Given the description of an element on the screen output the (x, y) to click on. 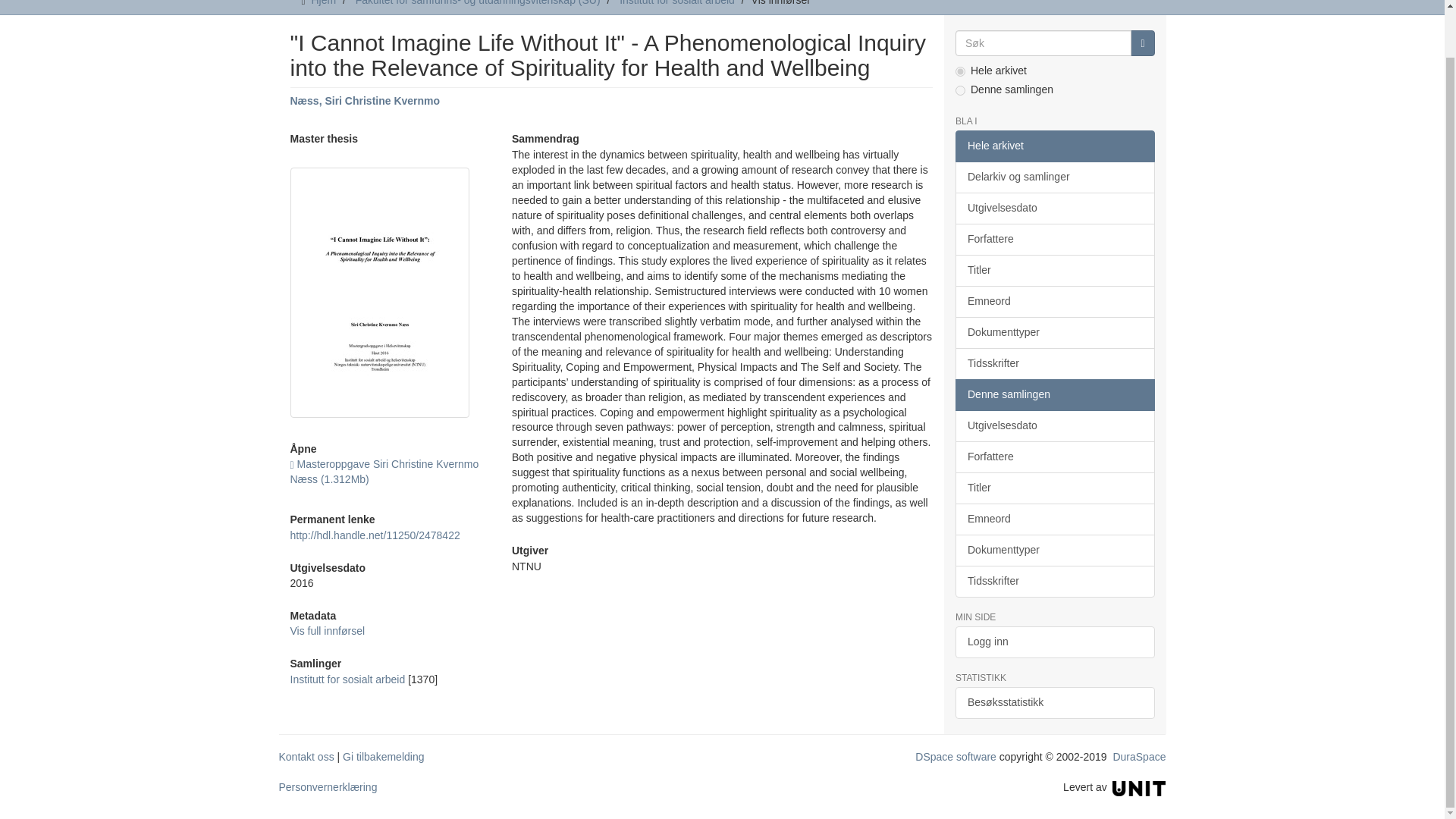
Titler (1054, 270)
Hjem (323, 2)
Forfattere (1054, 239)
Utgivelsesdato (1054, 208)
Dokumenttyper (1054, 332)
Institutt for sosialt arbeid (346, 679)
Institutt for sosialt arbeid (677, 2)
Hele arkivet (1054, 146)
Emneord (1054, 301)
Delarkiv og samlinger (1054, 177)
Tidsskrifter (1054, 364)
Unit (1139, 787)
